Given the description of an element on the screen output the (x, y) to click on. 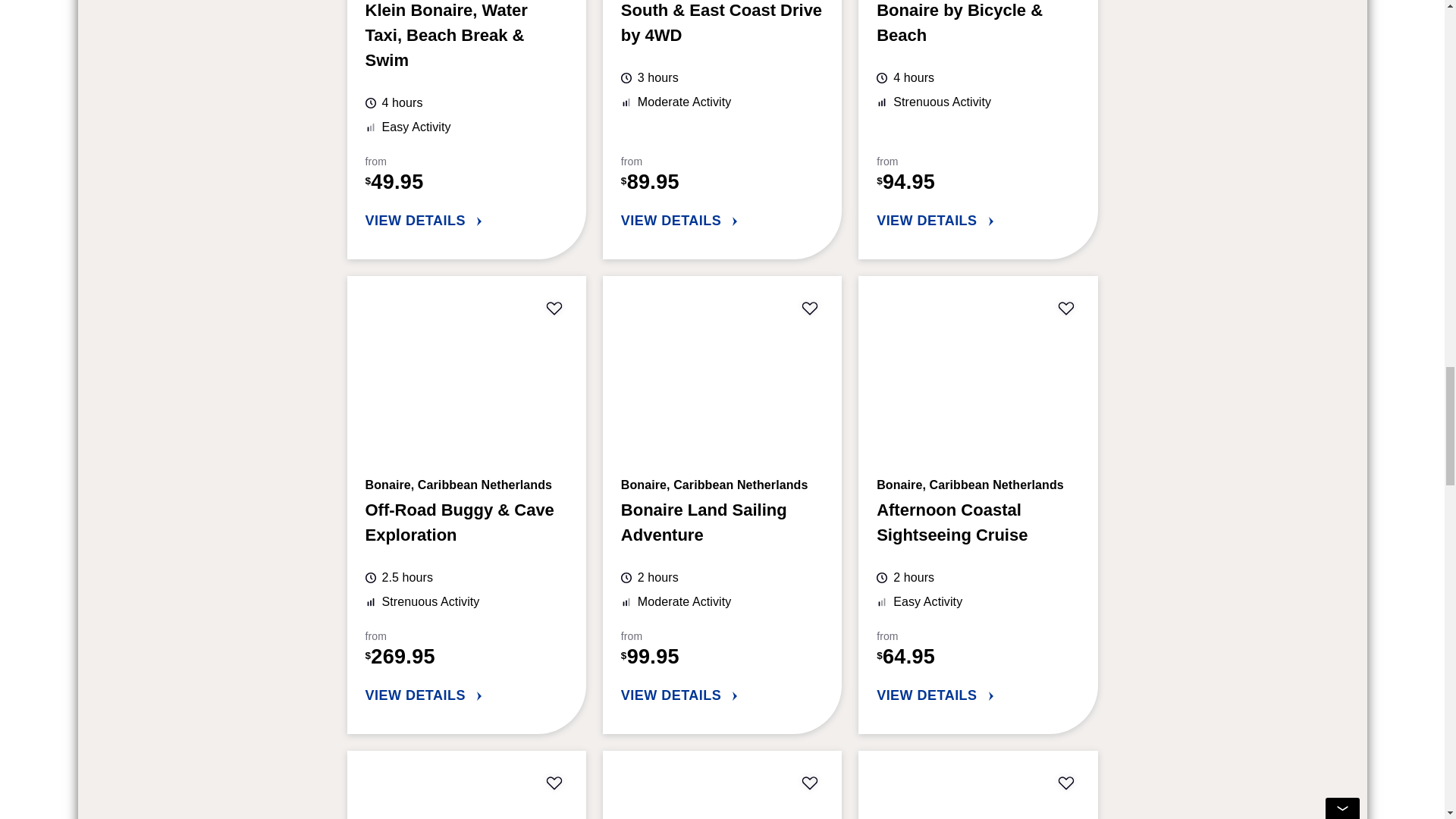
VIEW DETAILS (466, 221)
VIEW DETAILS (977, 695)
VIEW DETAILS (722, 221)
VIEW DETAILS (722, 695)
VIEW DETAILS (466, 695)
VIEW DETAILS (977, 221)
